Given the description of an element on the screen output the (x, y) to click on. 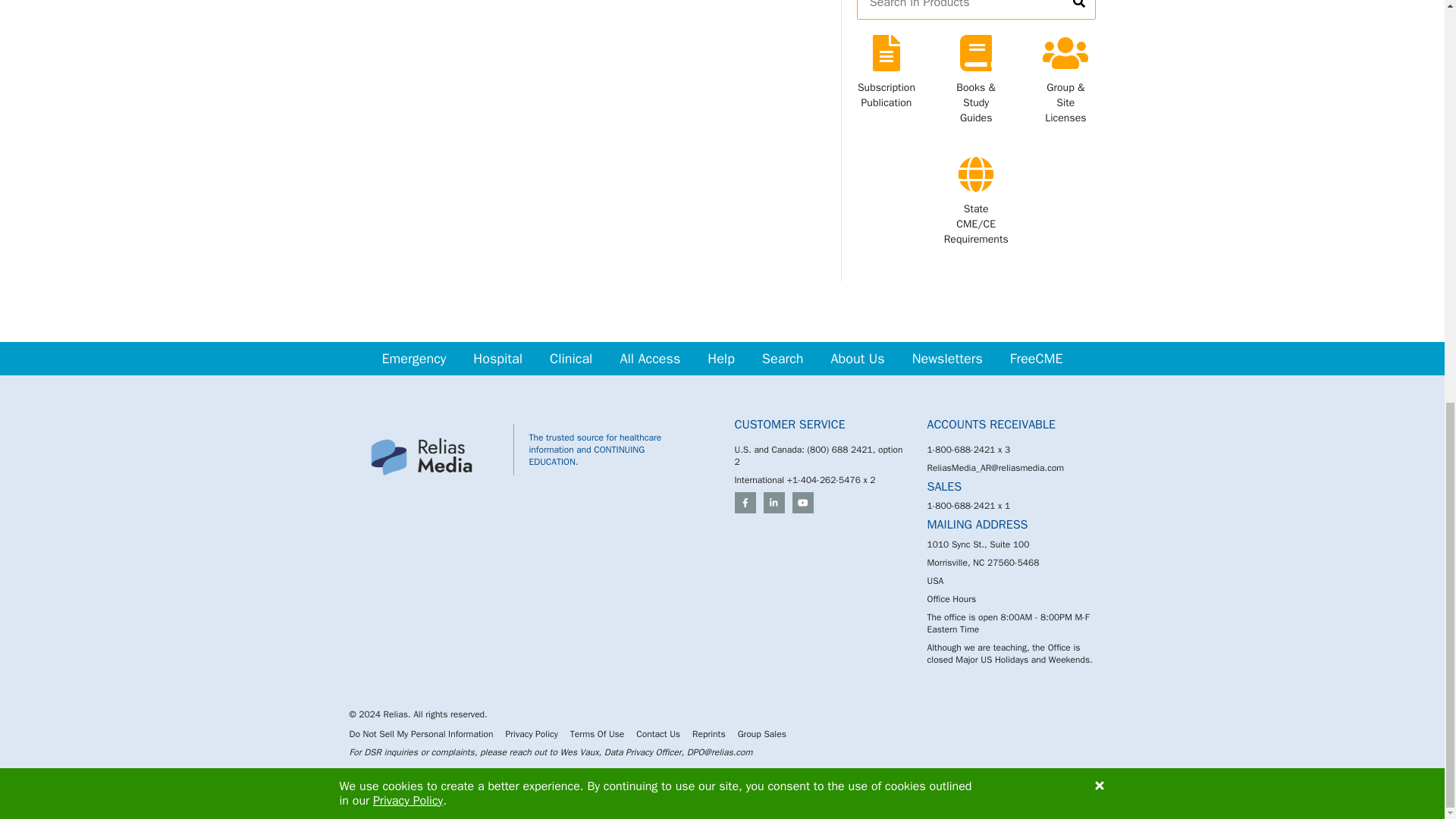
Facebook (744, 502)
YouTube (802, 502)
LinkedIn (773, 502)
